Given the description of an element on the screen output the (x, y) to click on. 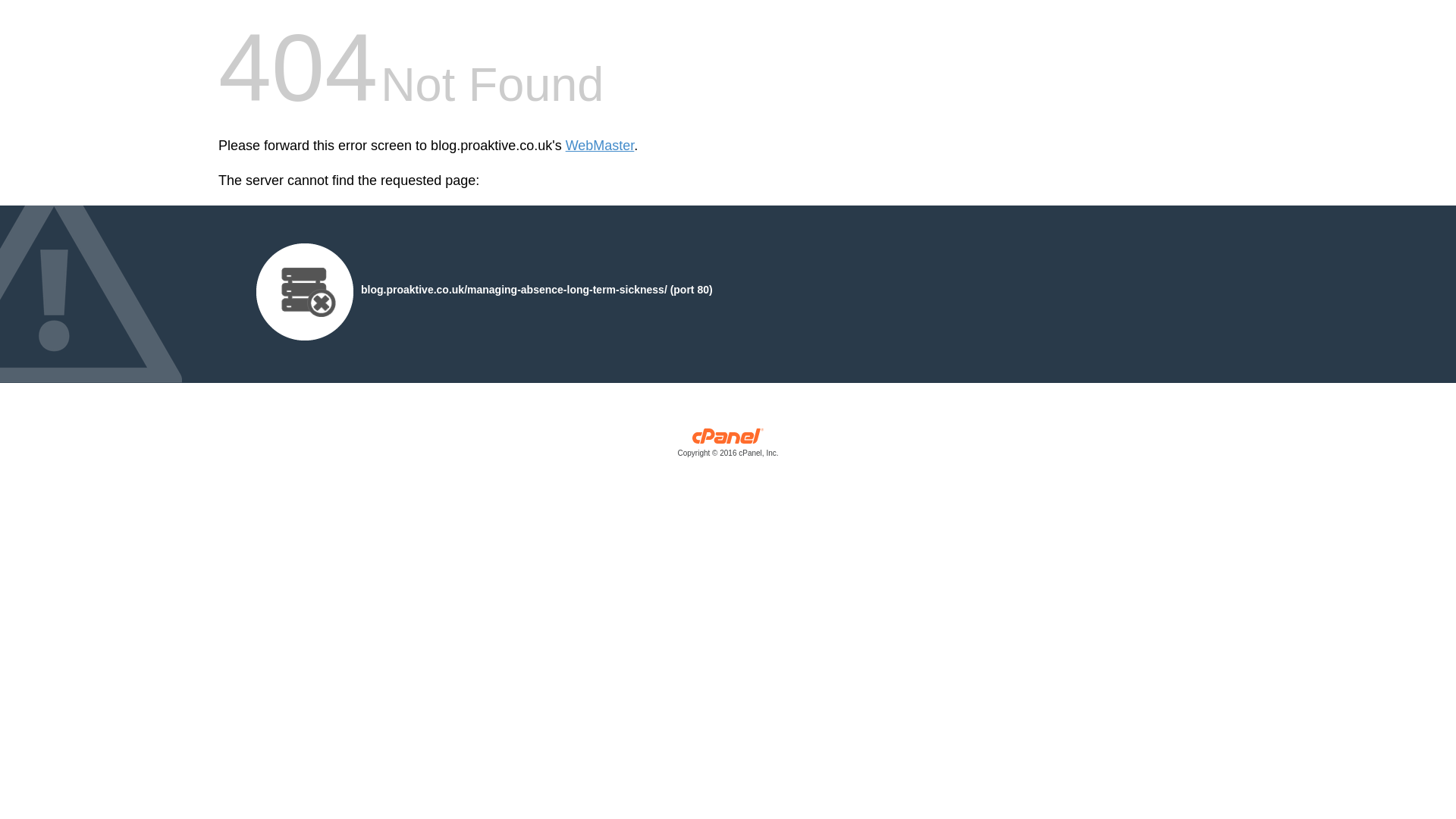
WebMaster (600, 145)
cPanel, Inc. (727, 446)
